Given the description of an element on the screen output the (x, y) to click on. 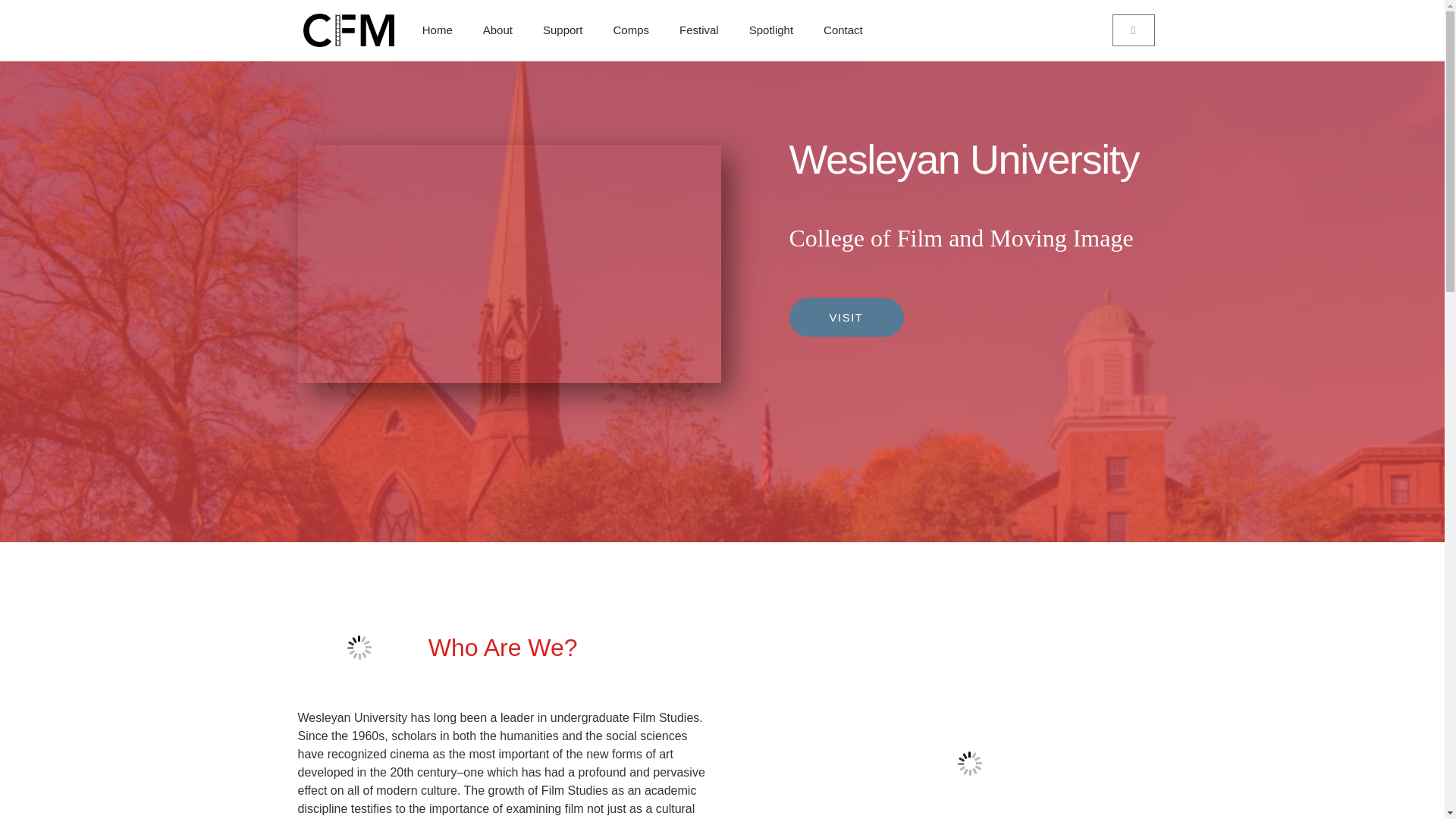
Support (562, 30)
Contact (842, 30)
Comps (629, 30)
Festival (698, 30)
Spotlight (770, 30)
Home (437, 30)
About (497, 30)
VISIT (845, 317)
